Given the description of an element on the screen output the (x, y) to click on. 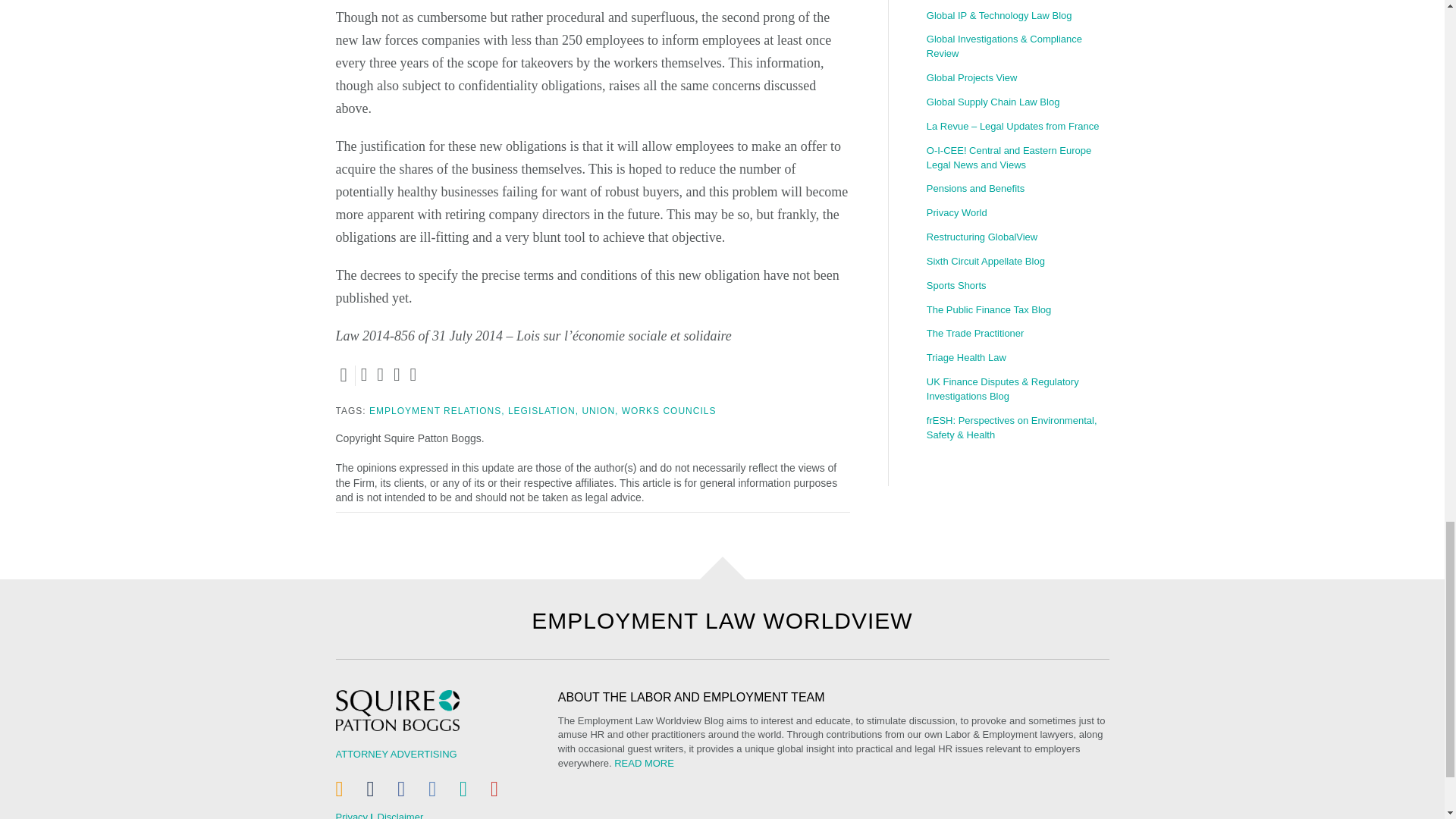
EMPLOYMENT RELATIONS, (437, 410)
UNION, (598, 410)
LEGISLATION, (543, 410)
WORKS COUNCILS (668, 410)
